Given the description of an element on the screen output the (x, y) to click on. 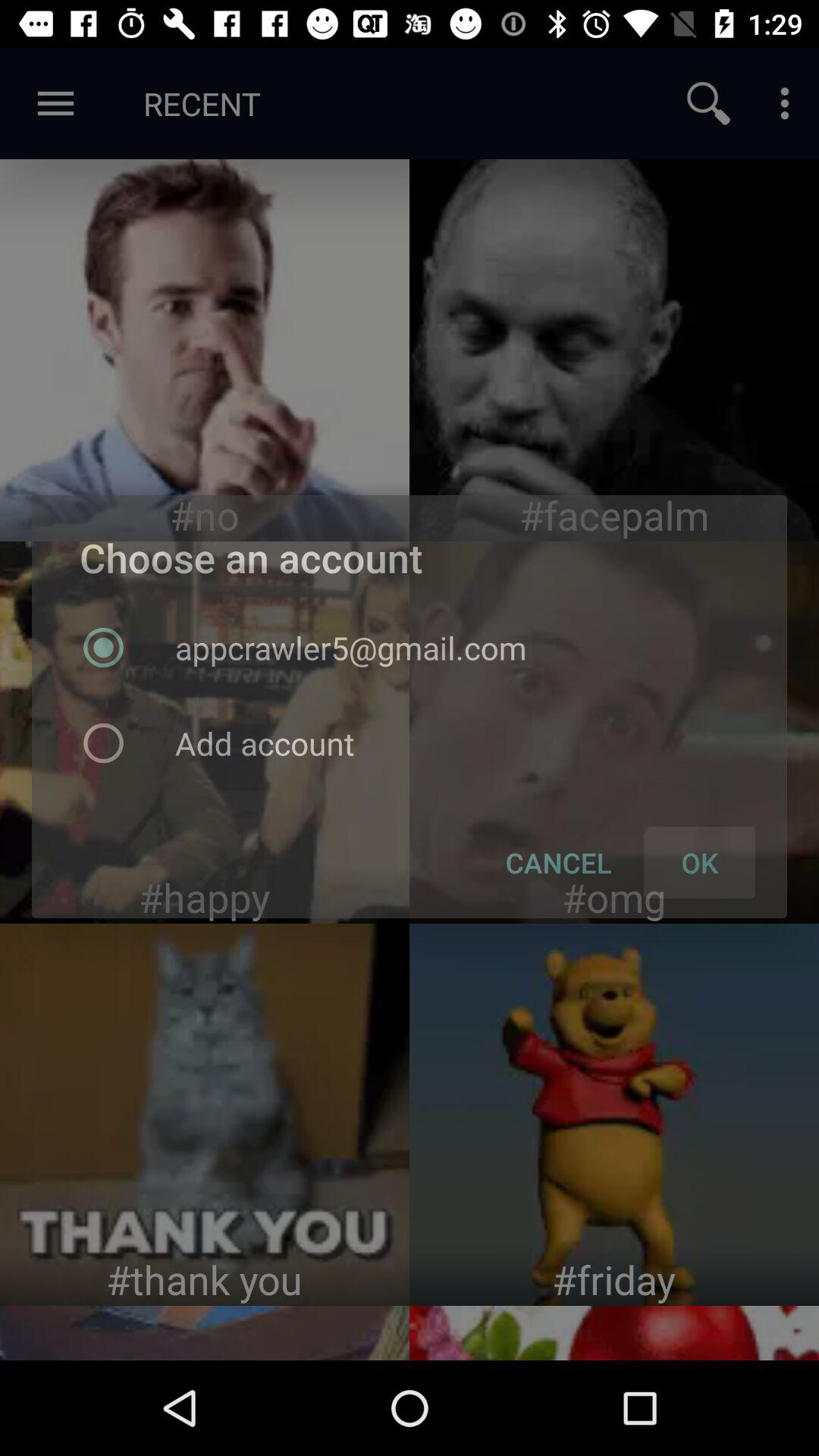
open menu (784, 103)
